Given the description of an element on the screen output the (x, y) to click on. 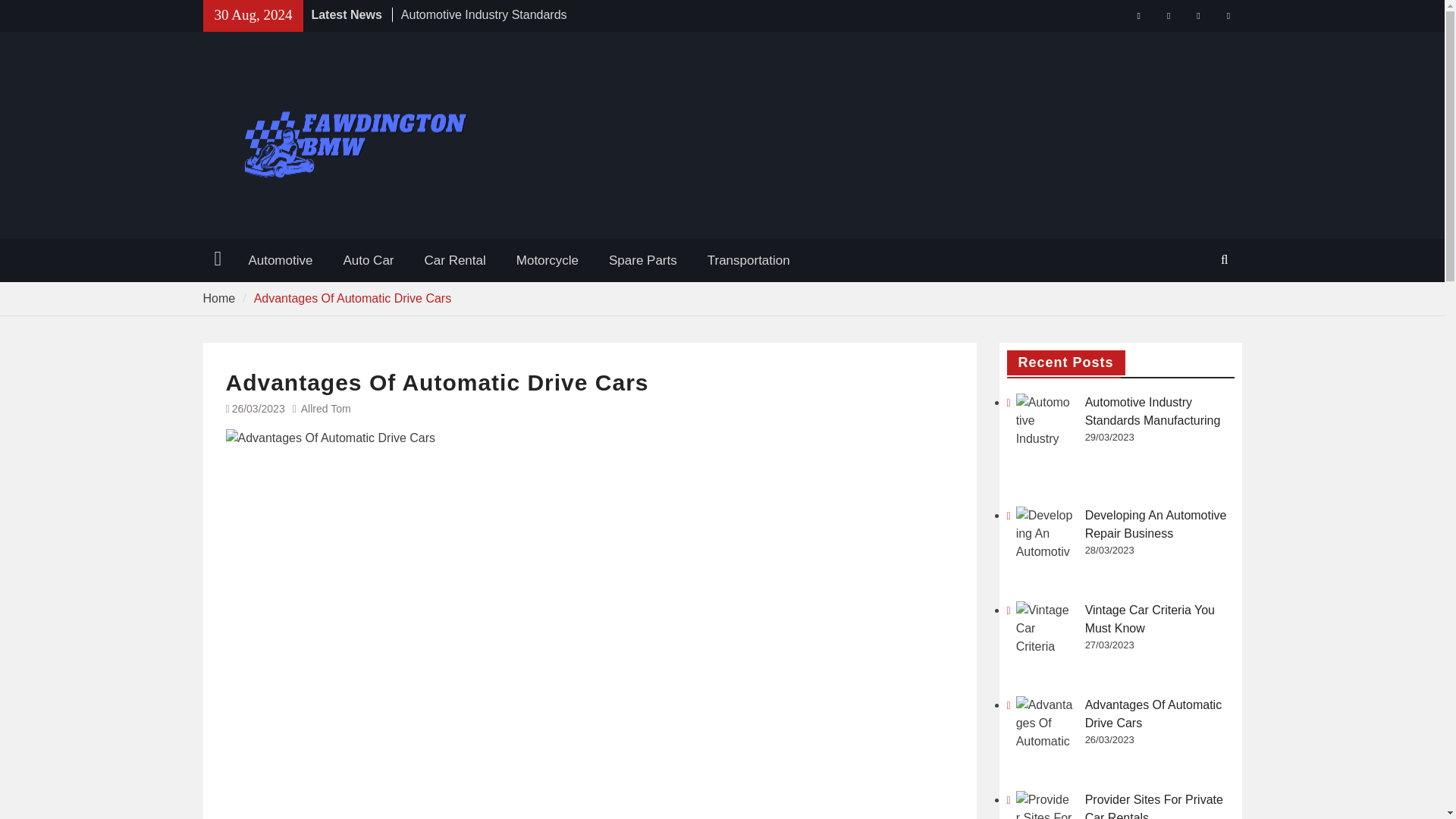
Transportation (749, 260)
Vintage Car Criteria You Must Know (1149, 618)
Advantages Of Automatic Drive Cars (1153, 713)
Automotive Industry Standards Manufacturing (1044, 421)
Vintage Car Criteria You Must Know (1044, 629)
Motorcycle (547, 260)
Automotive Industry Standards Manufacturing (484, 23)
Automotive Industry Standards Manufacturing (1152, 410)
Spare Parts (643, 260)
